Given the description of an element on the screen output the (x, y) to click on. 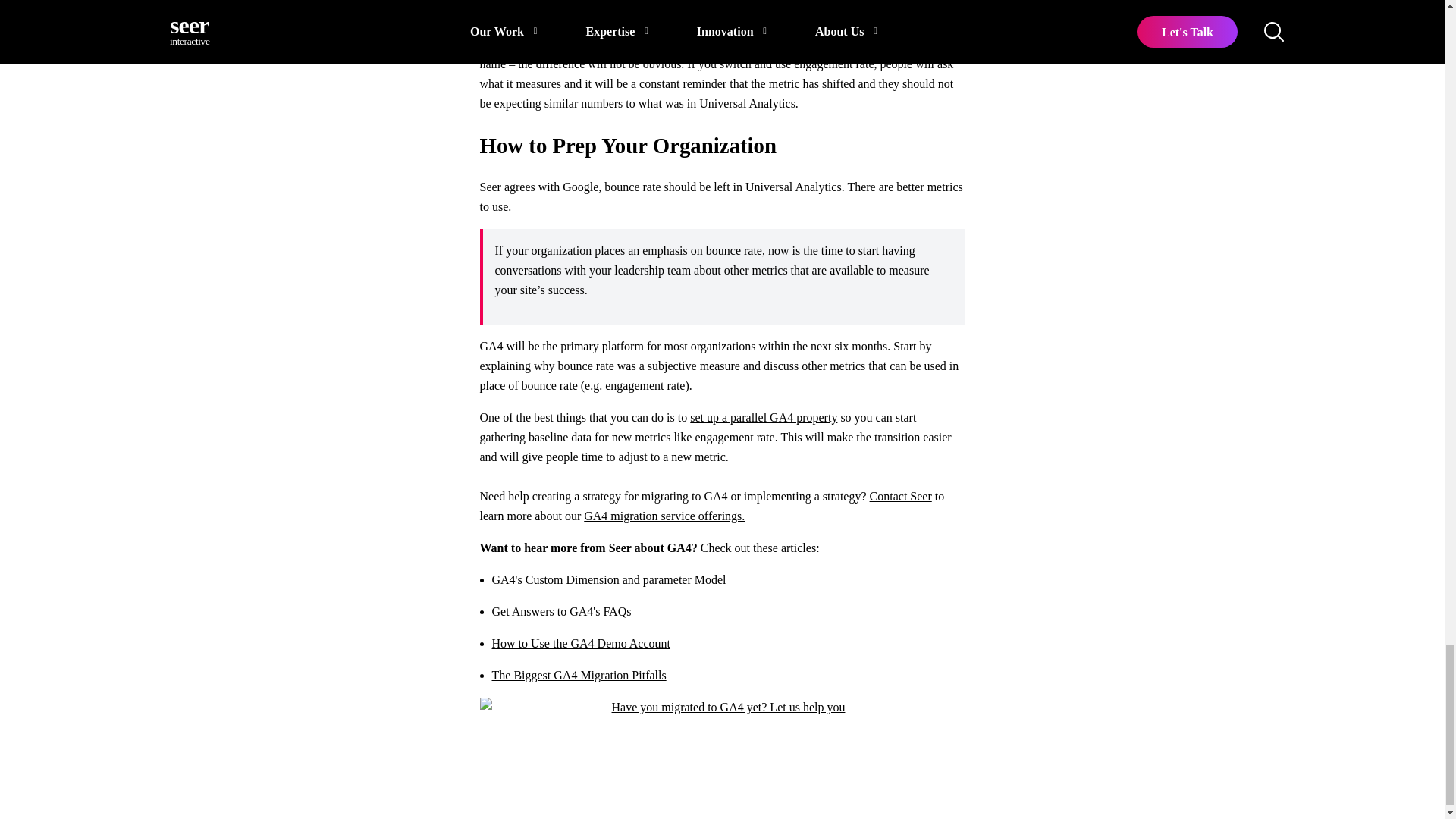
Contact Seer (900, 495)
The Biggest GA4 Migration Pitfalls (578, 675)
GA4's Custom Dimension and parameter Model (608, 579)
GA4 migration service offerings. (663, 515)
set up a parallel GA4 property (763, 417)
Get Answers to GA4's FAQs (561, 611)
How to Use the GA4 Demo Account (580, 643)
